Given the description of an element on the screen output the (x, y) to click on. 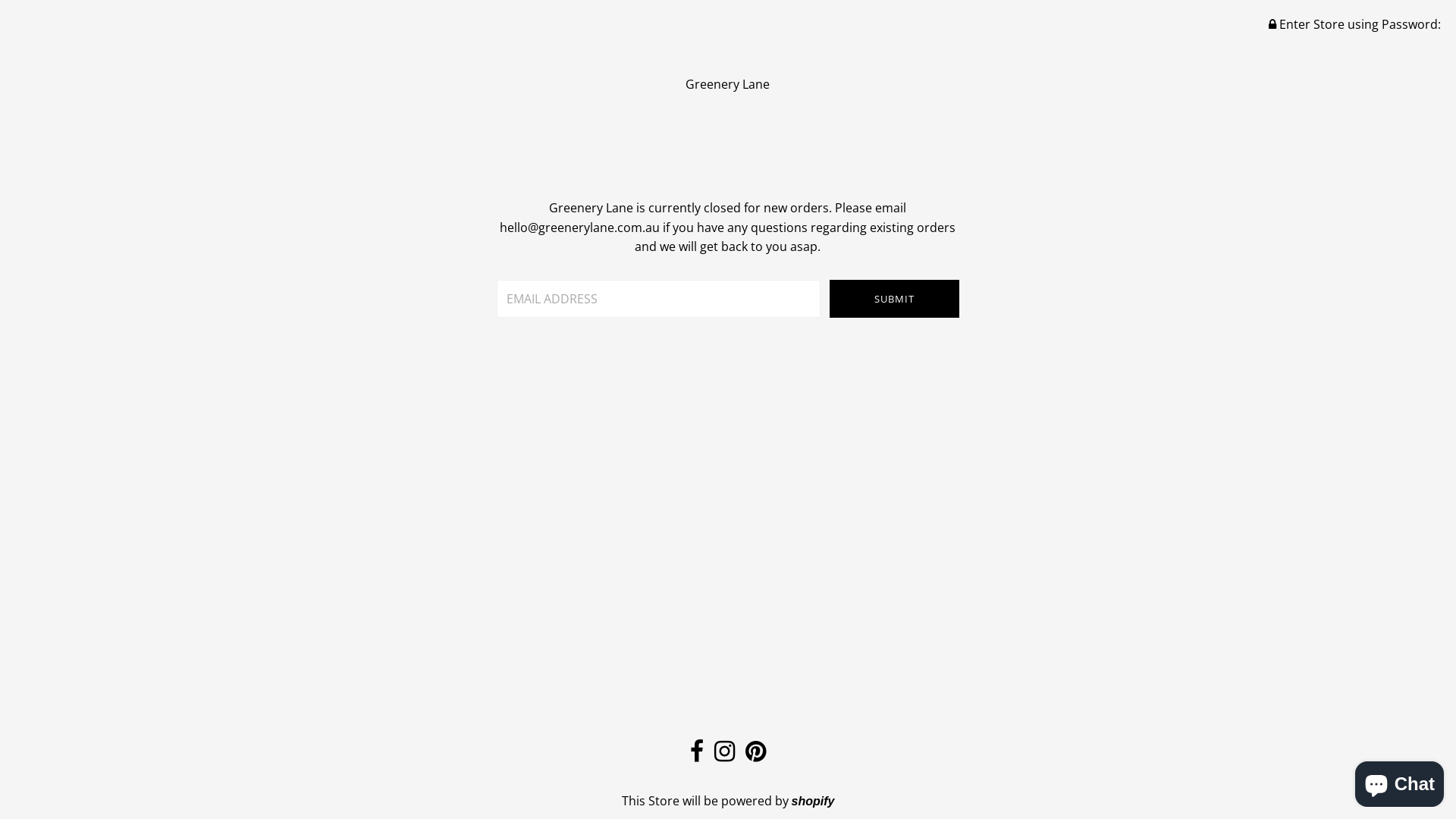
Shopify online store chat Element type: hover (1399, 780)
shopify Element type: text (812, 800)
Greenery Lane Element type: text (727, 83)
Submit Element type: text (894, 298)
